Given the description of an element on the screen output the (x, y) to click on. 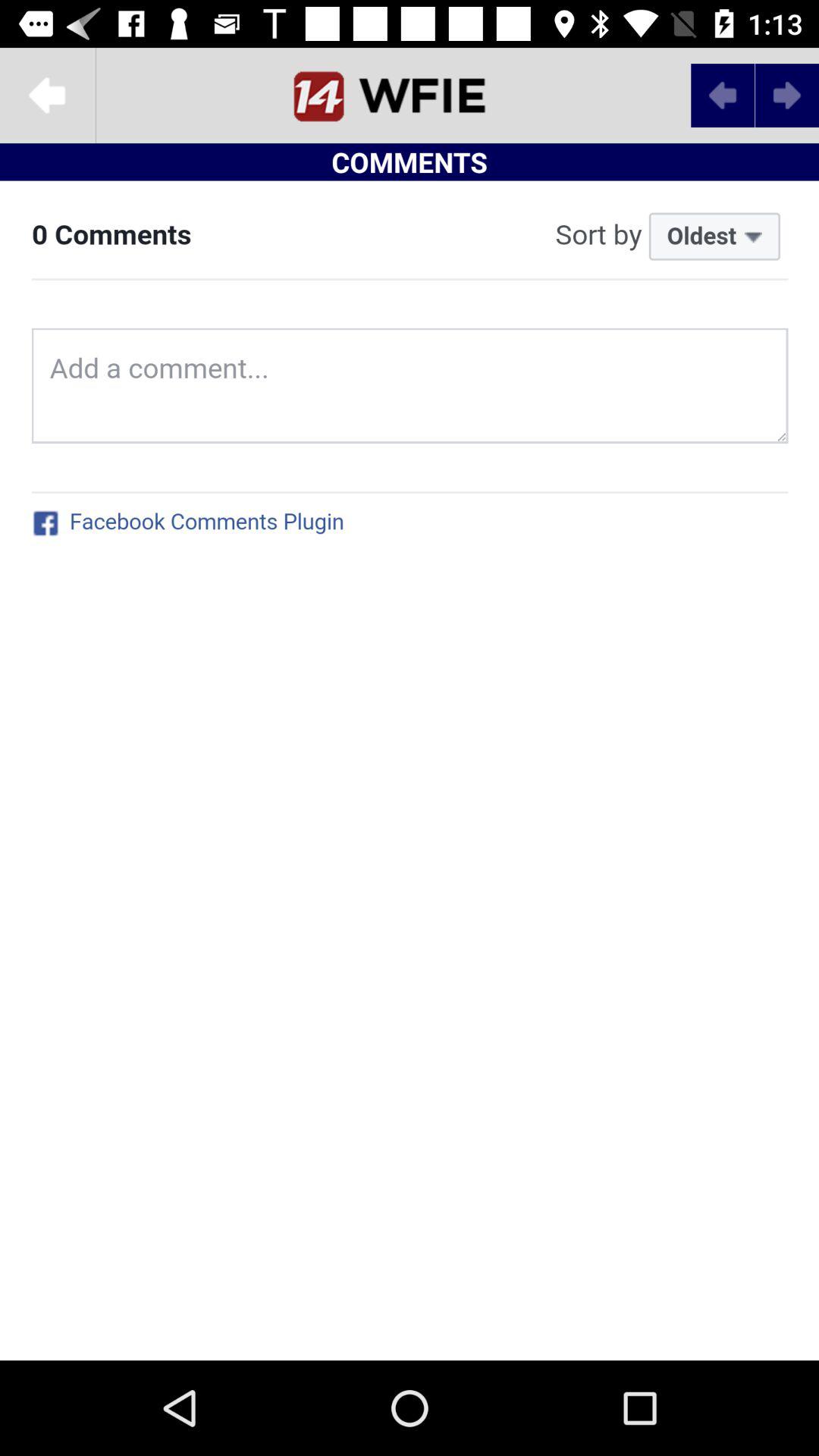
add a comment (409, 770)
